Given the description of an element on the screen output the (x, y) to click on. 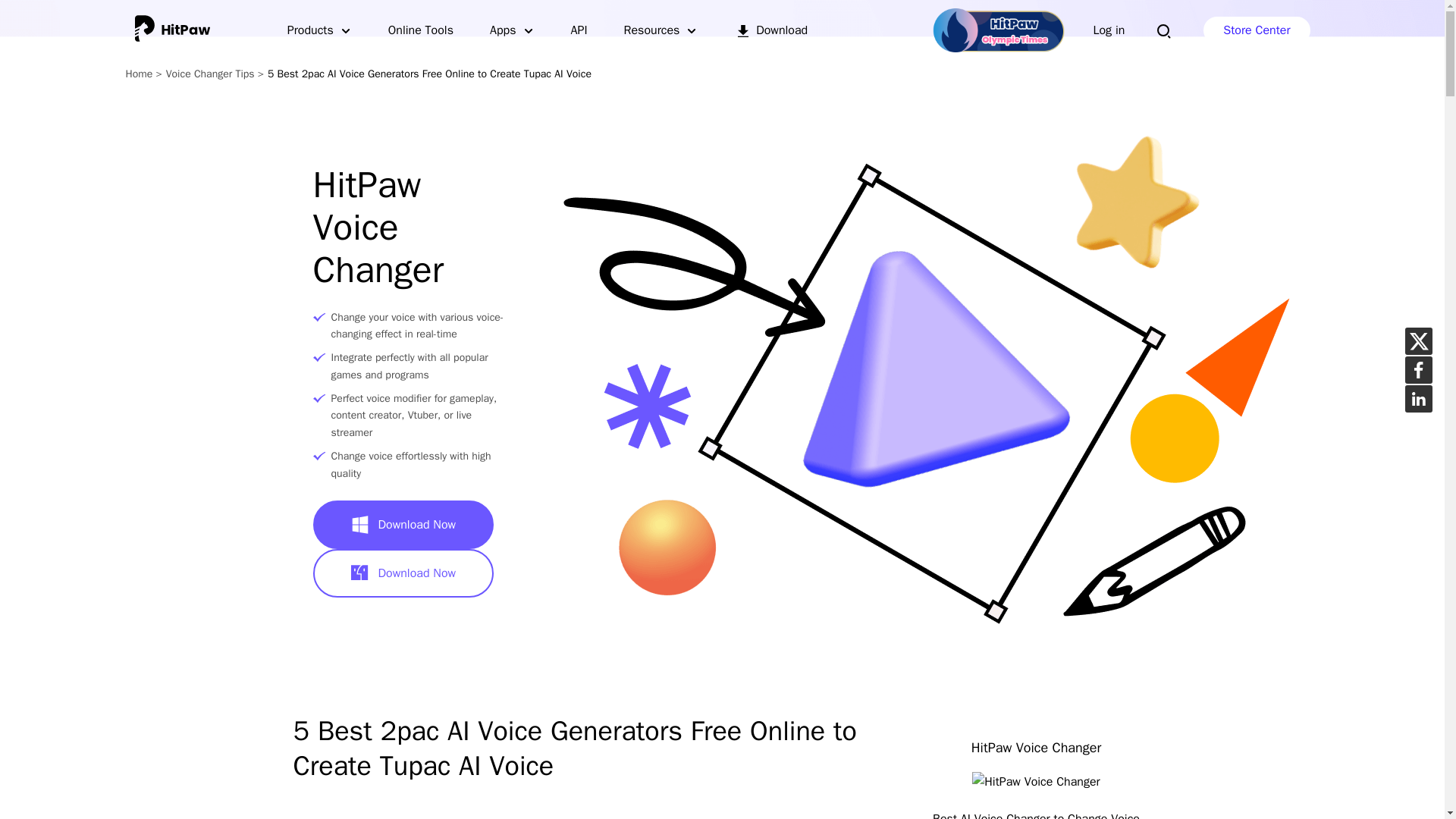
Log in (1108, 30)
Store Center (1256, 30)
Products (319, 30)
